Given the description of an element on the screen output the (x, y) to click on. 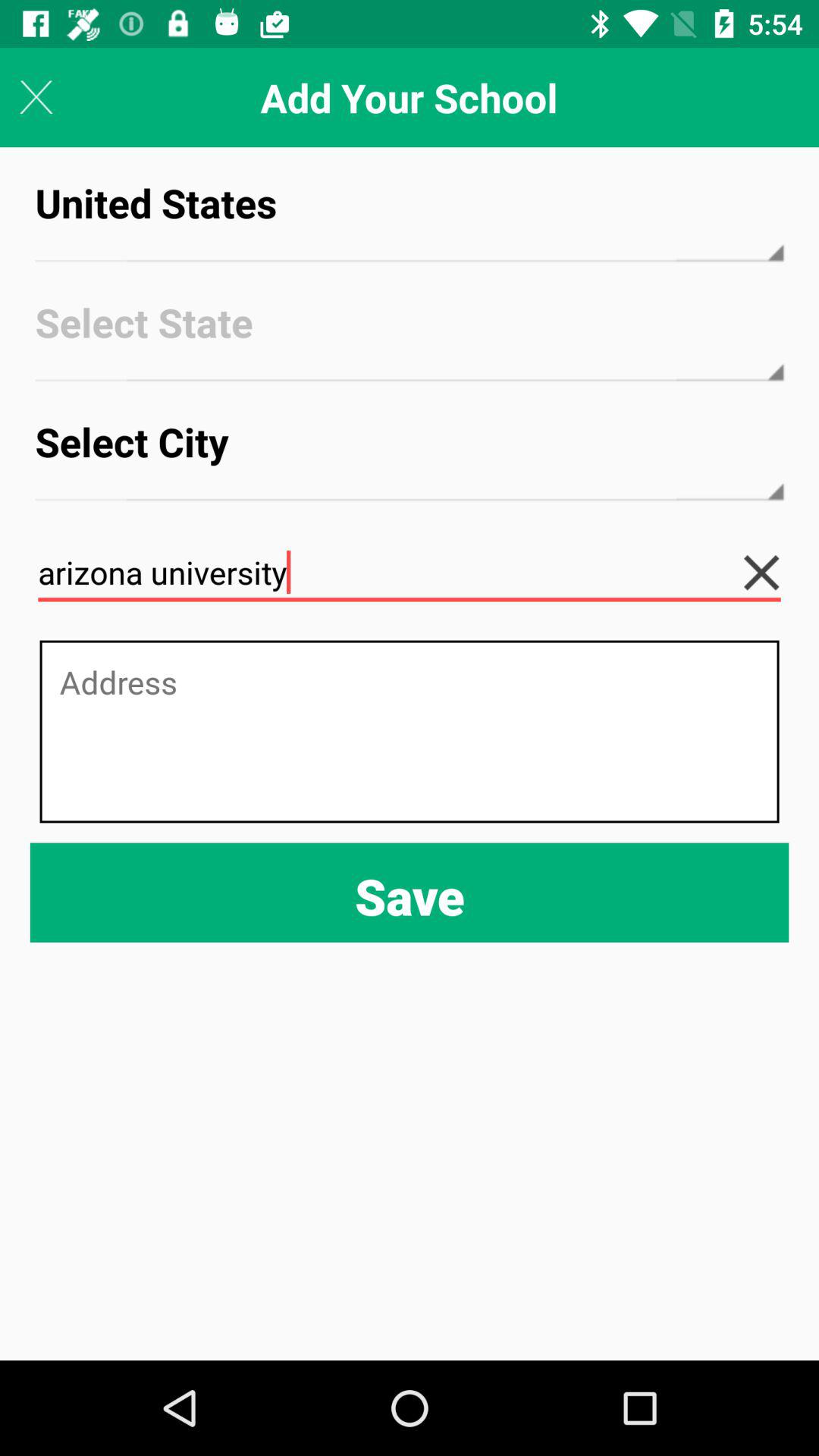
open icon above the save icon (409, 731)
